Given the description of an element on the screen output the (x, y) to click on. 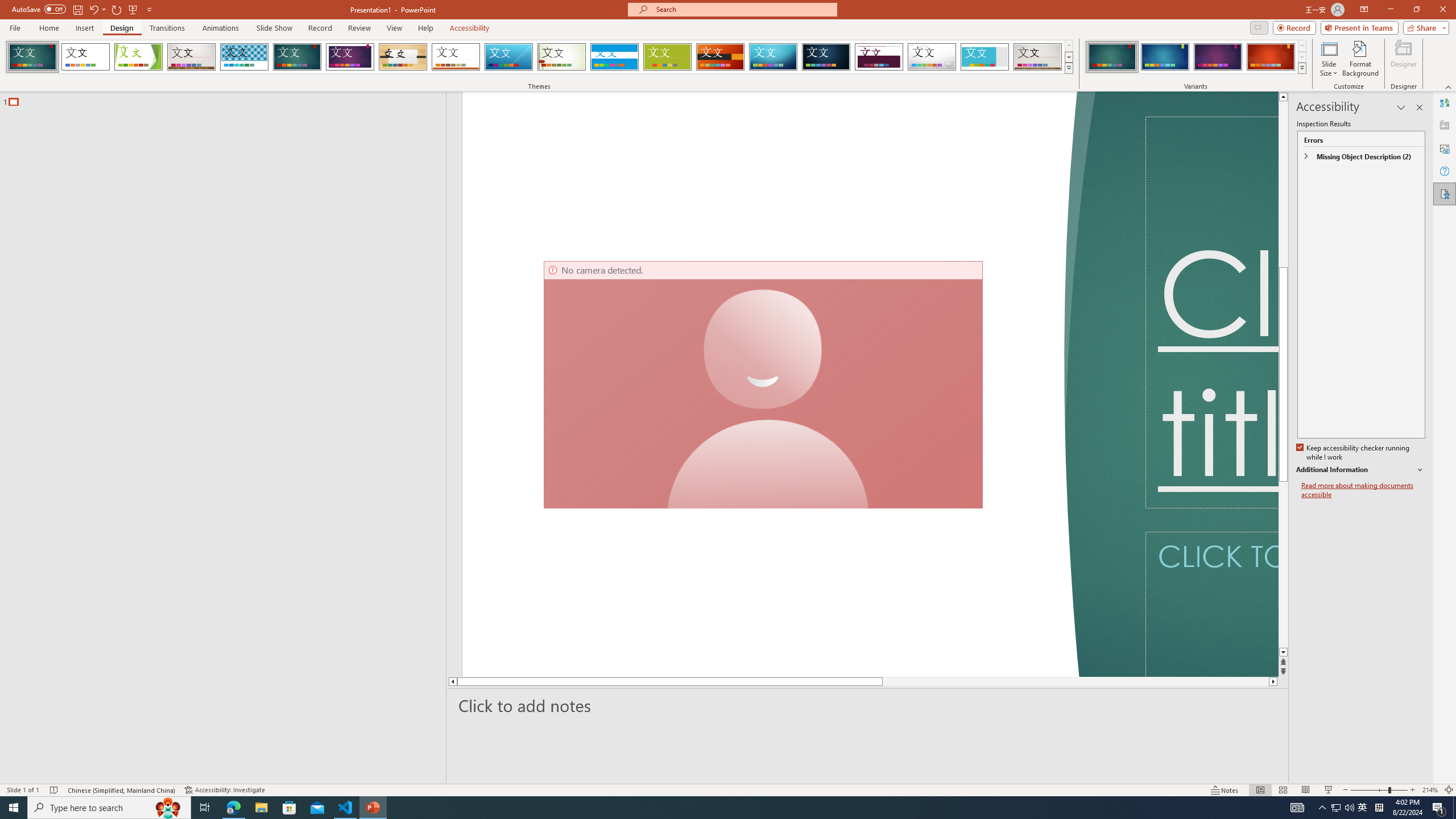
Camera 7, No camera detected. (762, 384)
Basis (667, 56)
Designer (1403, 58)
Microsoft search (742, 9)
Page up (1283, 266)
Wisp (561, 56)
